Given the description of an element on the screen output the (x, y) to click on. 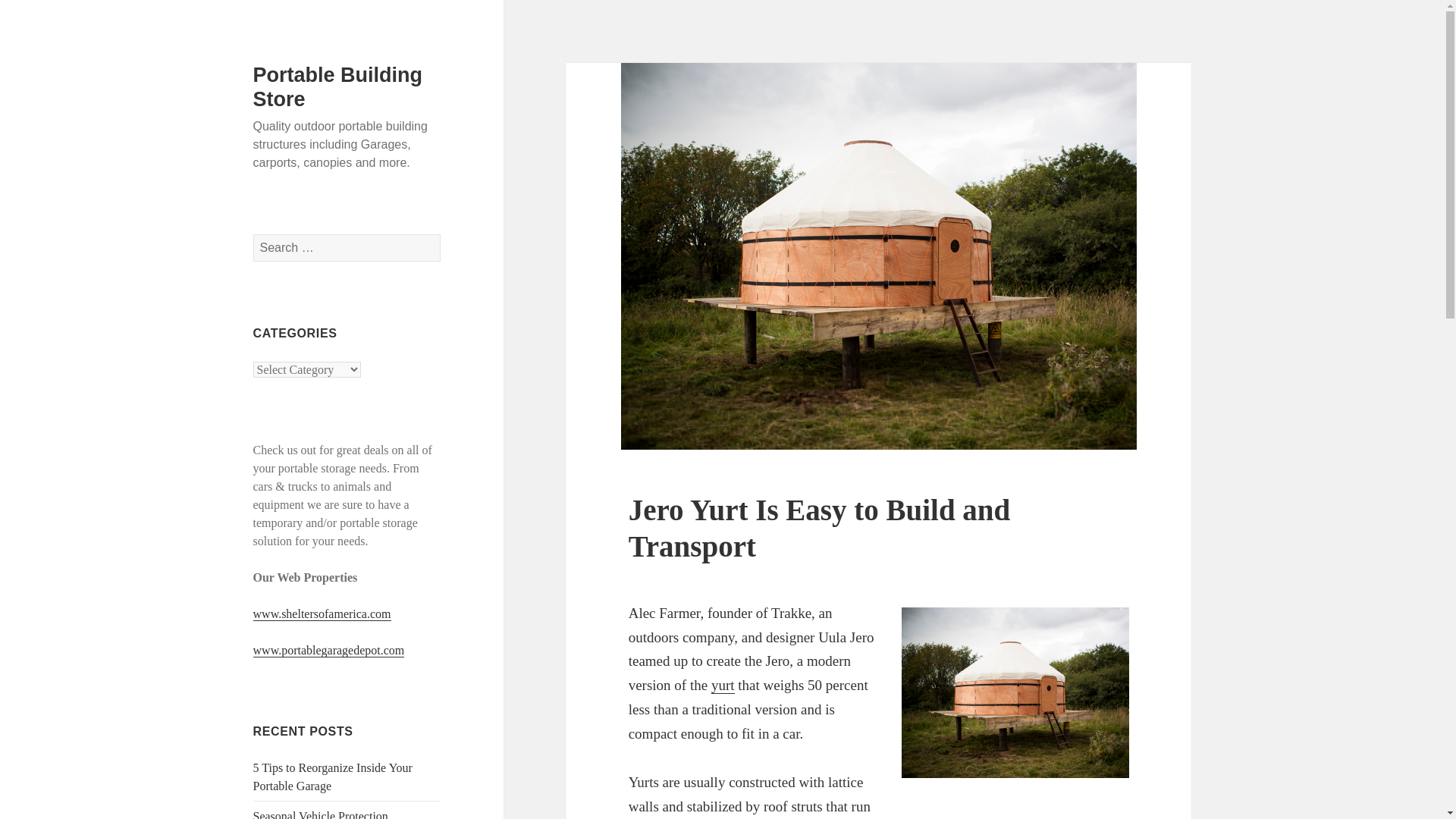
www.sheltersofamerica.com (322, 613)
Portable Building Store (338, 86)
yurt (723, 685)
www.portablegaragedepot.com (328, 650)
Portable Garage Depot (723, 685)
5 Tips to Reorganize Inside Your Portable Garage (332, 776)
Seasonal Vehicle Protection (320, 814)
